Given the description of an element on the screen output the (x, y) to click on. 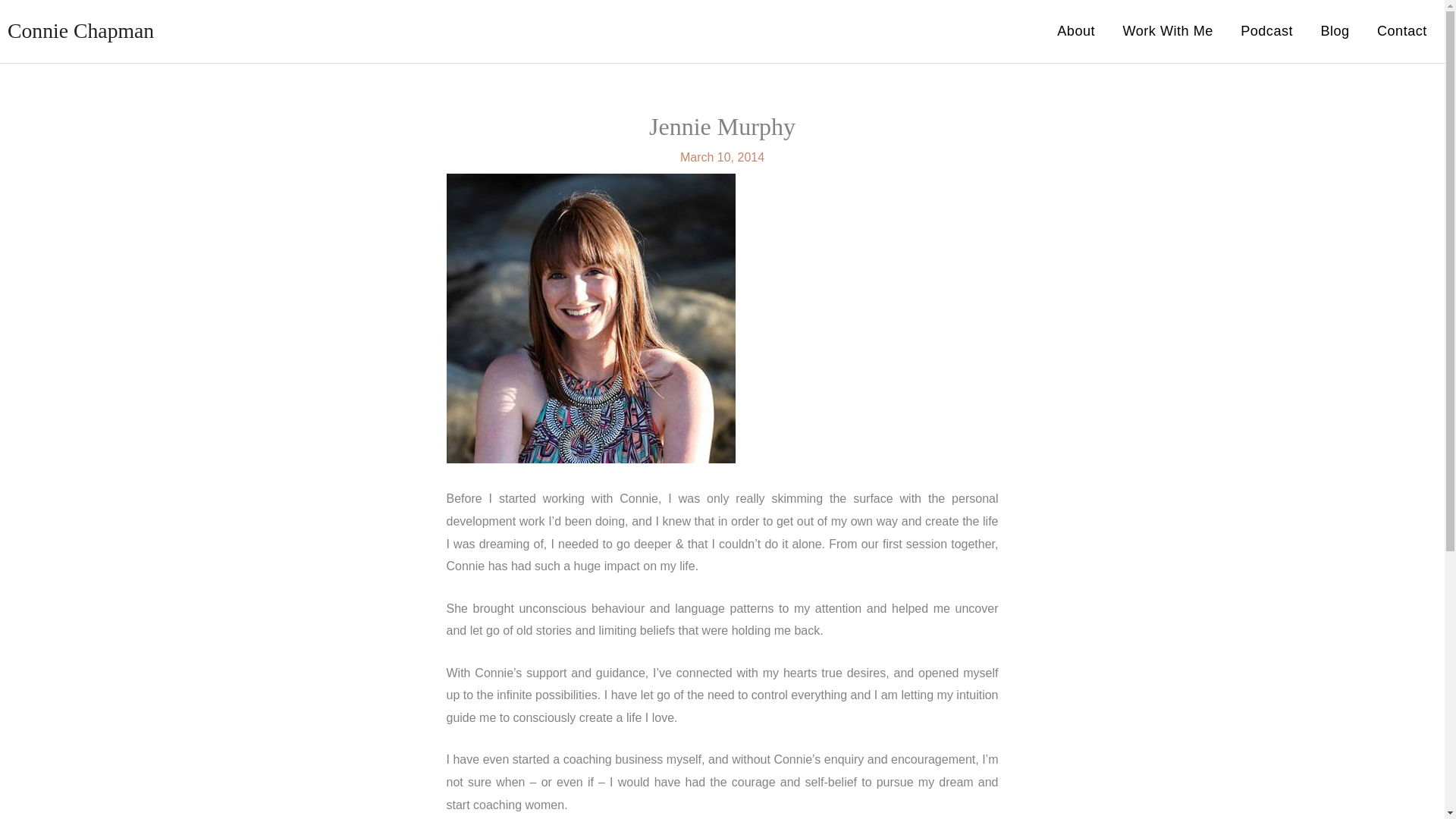
About (1075, 31)
Podcast (1266, 31)
Contact (1401, 31)
Blog (1334, 31)
Work With Me (1167, 31)
Connie Chapman (80, 30)
